Given the description of an element on the screen output the (x, y) to click on. 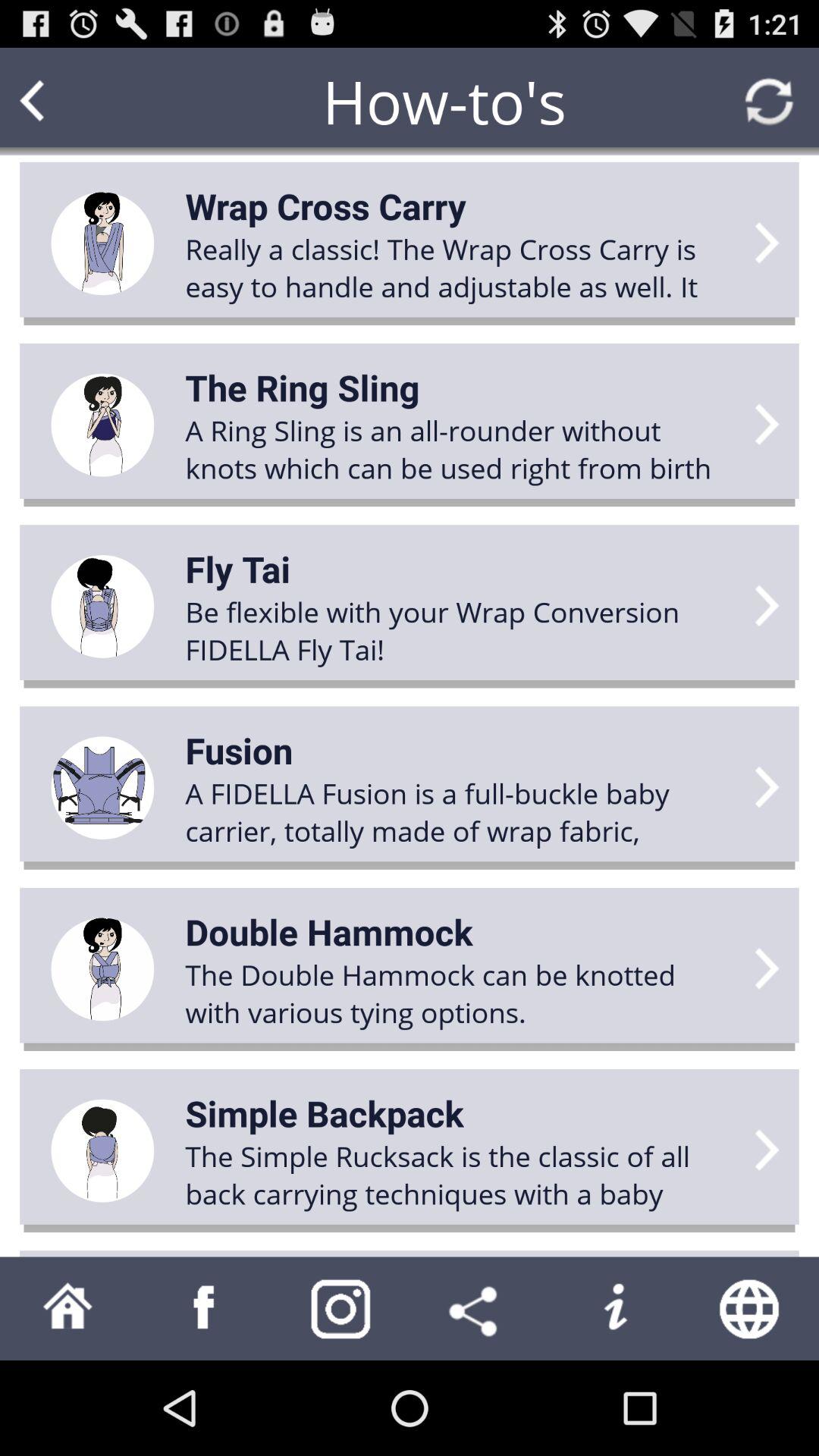
share link (477, 1308)
